Given the description of an element on the screen output the (x, y) to click on. 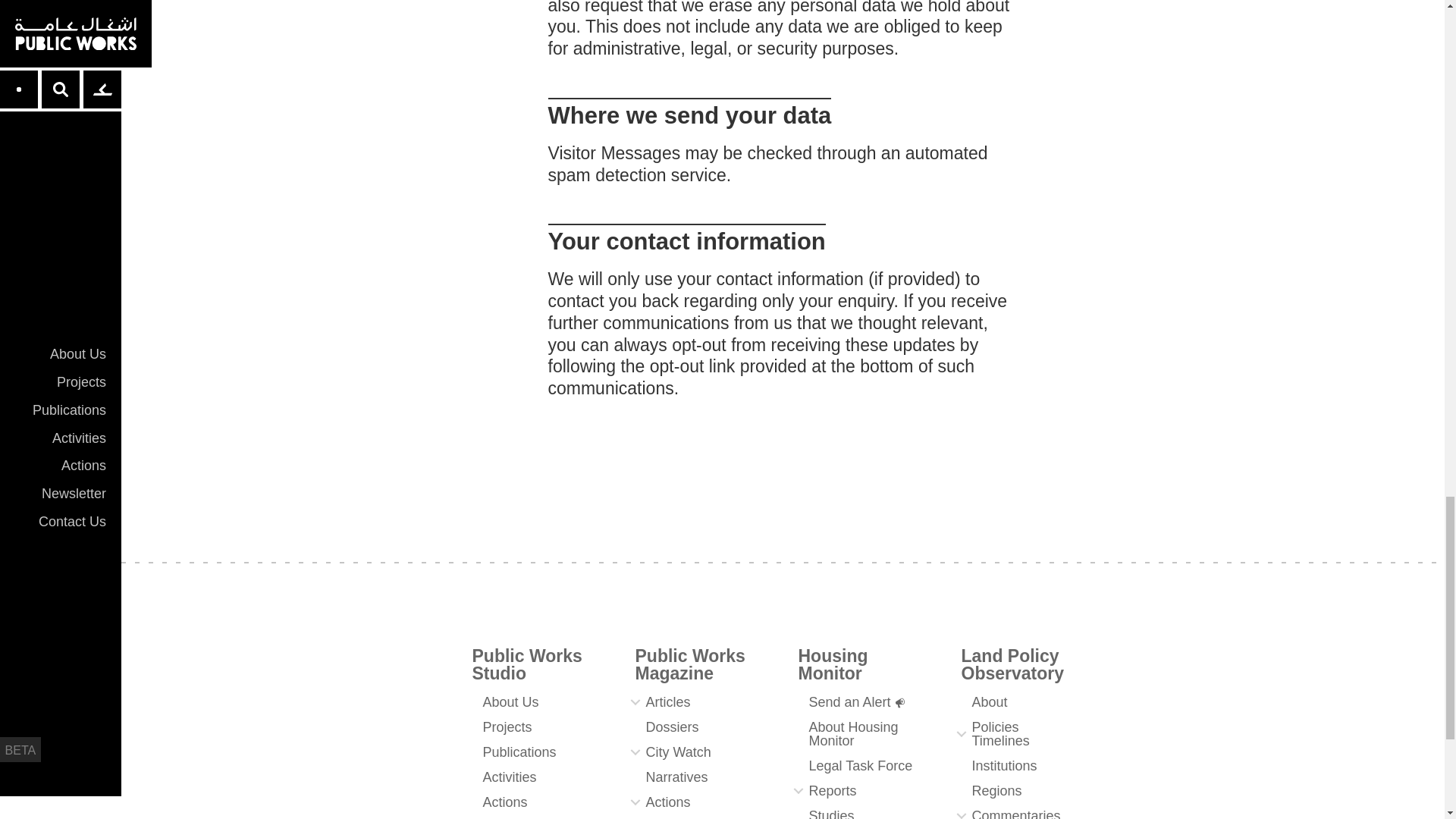
Public Works Magazine (689, 664)
Land Policy Observatory (1012, 664)
